Given the description of an element on the screen output the (x, y) to click on. 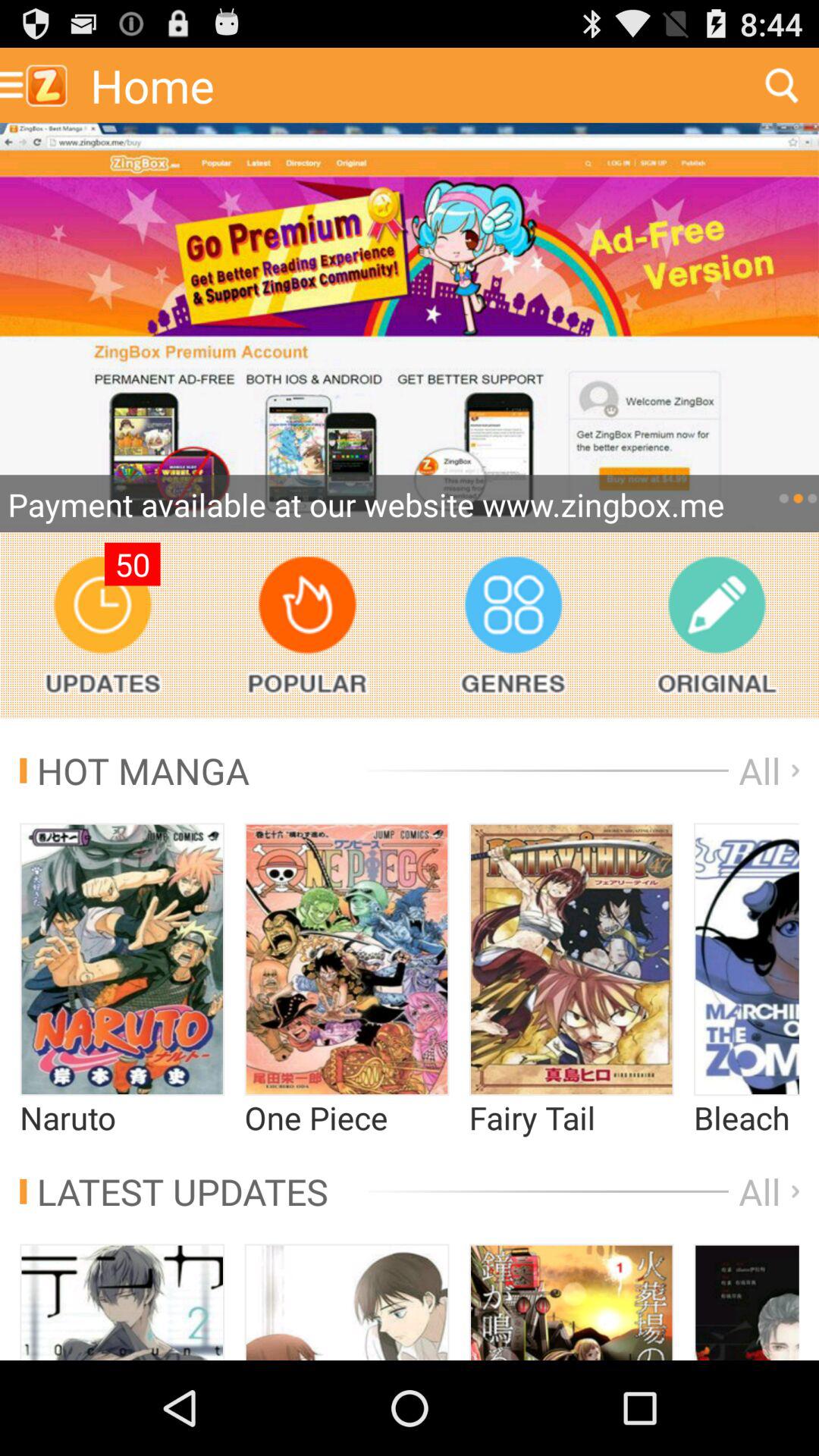
movie image (746, 958)
